Given the description of an element on the screen output the (x, y) to click on. 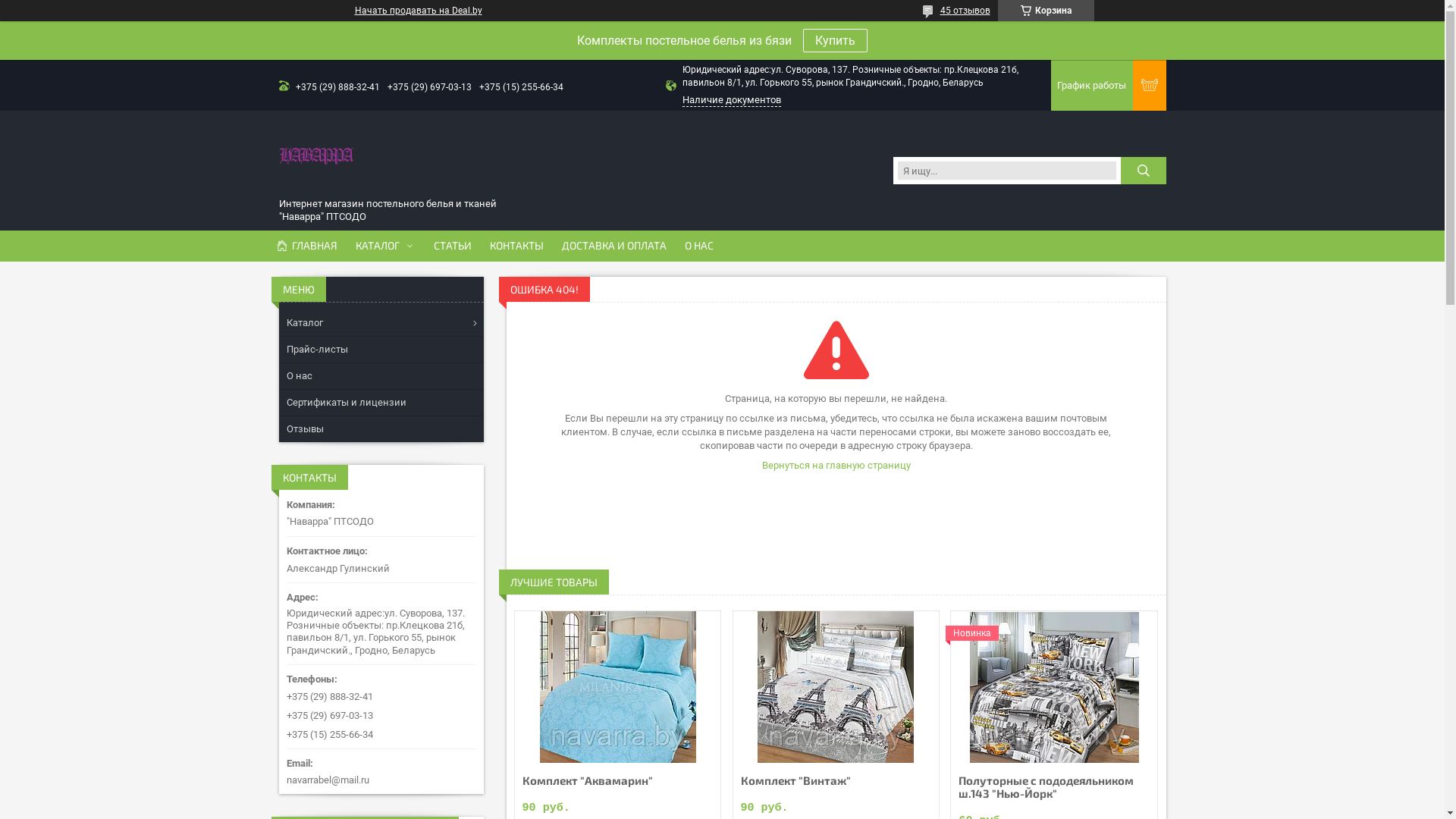
navarrabel@mail.ru Element type: text (381, 767)
